Given the description of an element on the screen output the (x, y) to click on. 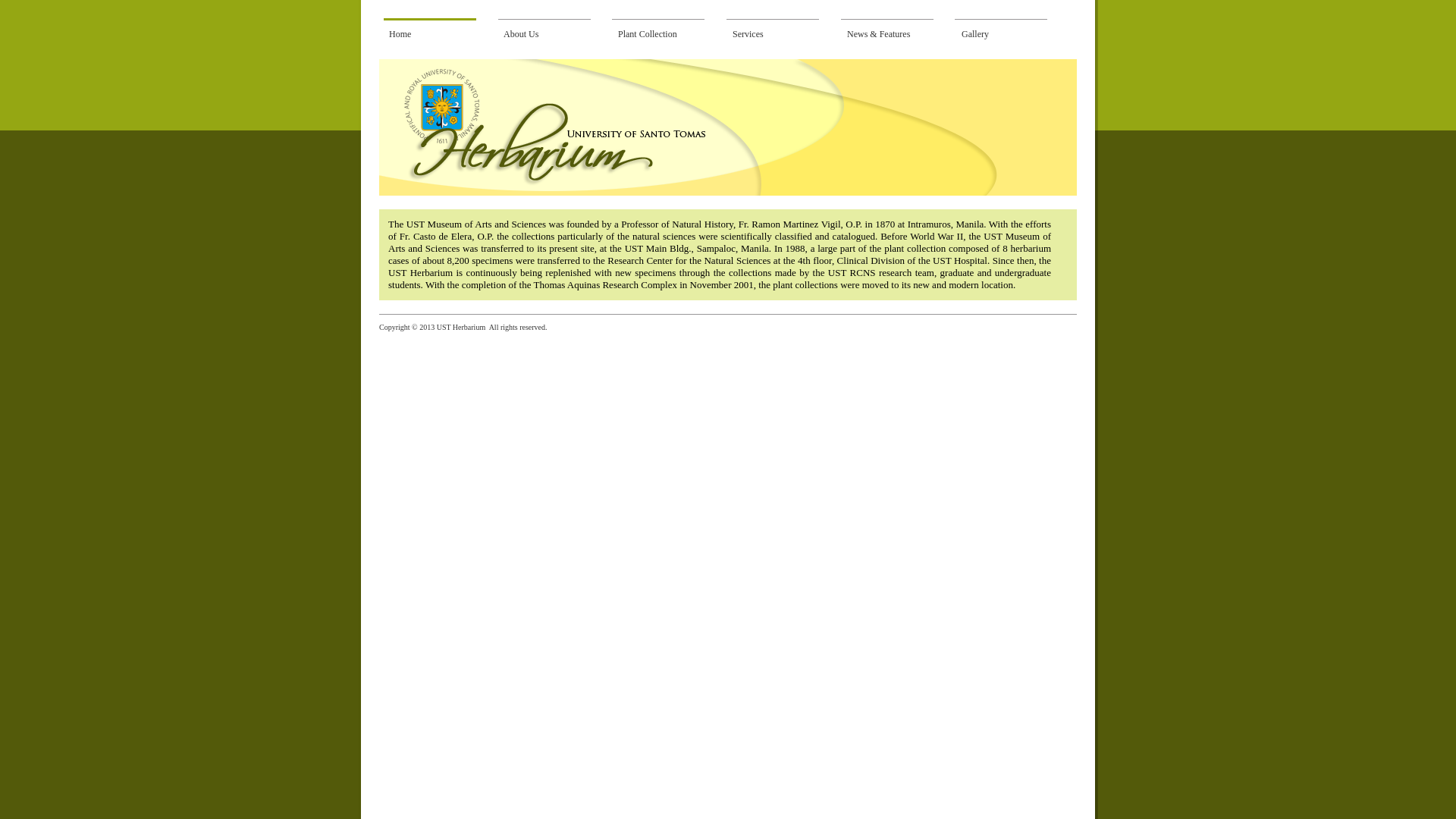
Home (438, 34)
Services (781, 34)
Plant Collection (666, 34)
Gallery (1010, 34)
About Us (553, 34)
